Given the description of an element on the screen output the (x, y) to click on. 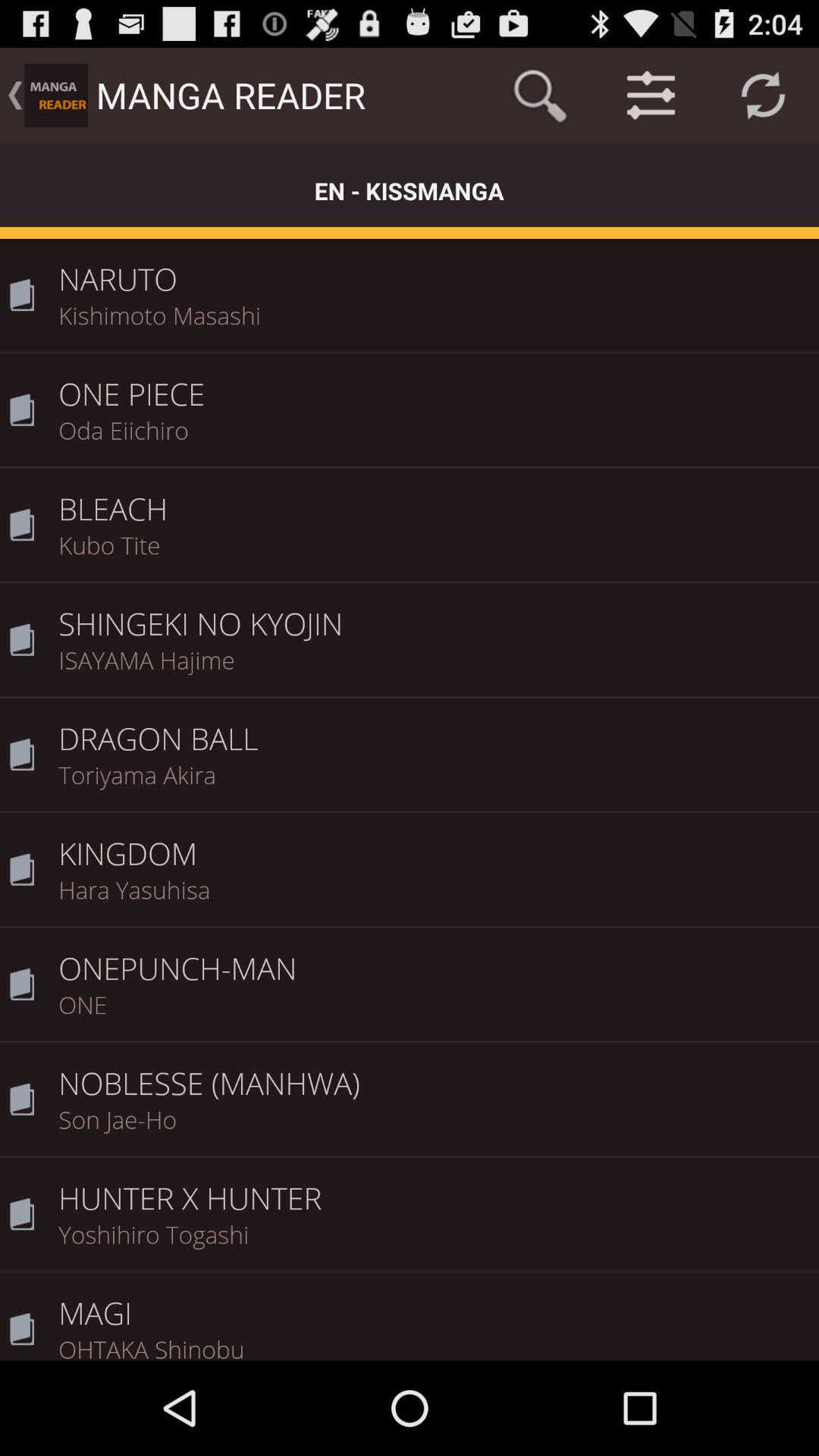
choose naruto item (433, 268)
